Given the description of an element on the screen output the (x, y) to click on. 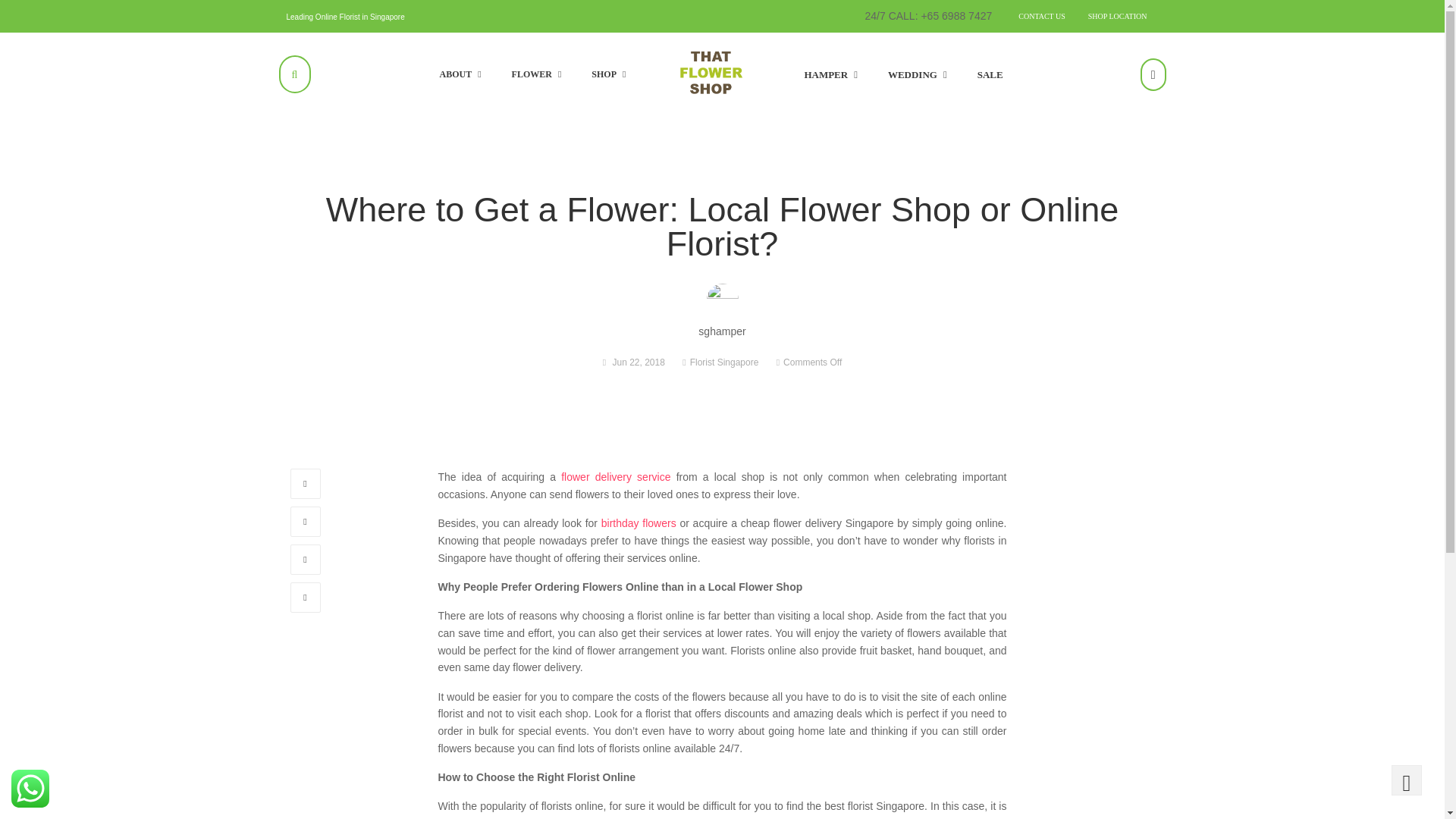
Googleplus (304, 559)
SHOP LOCATION (1117, 16)
Twitter (304, 521)
Back to top (1406, 779)
Facebook (304, 483)
WEDDING (917, 74)
ABOUT (460, 74)
CONTACT US (1042, 16)
SHOP (608, 74)
HAMPER (830, 74)
